Given the description of an element on the screen output the (x, y) to click on. 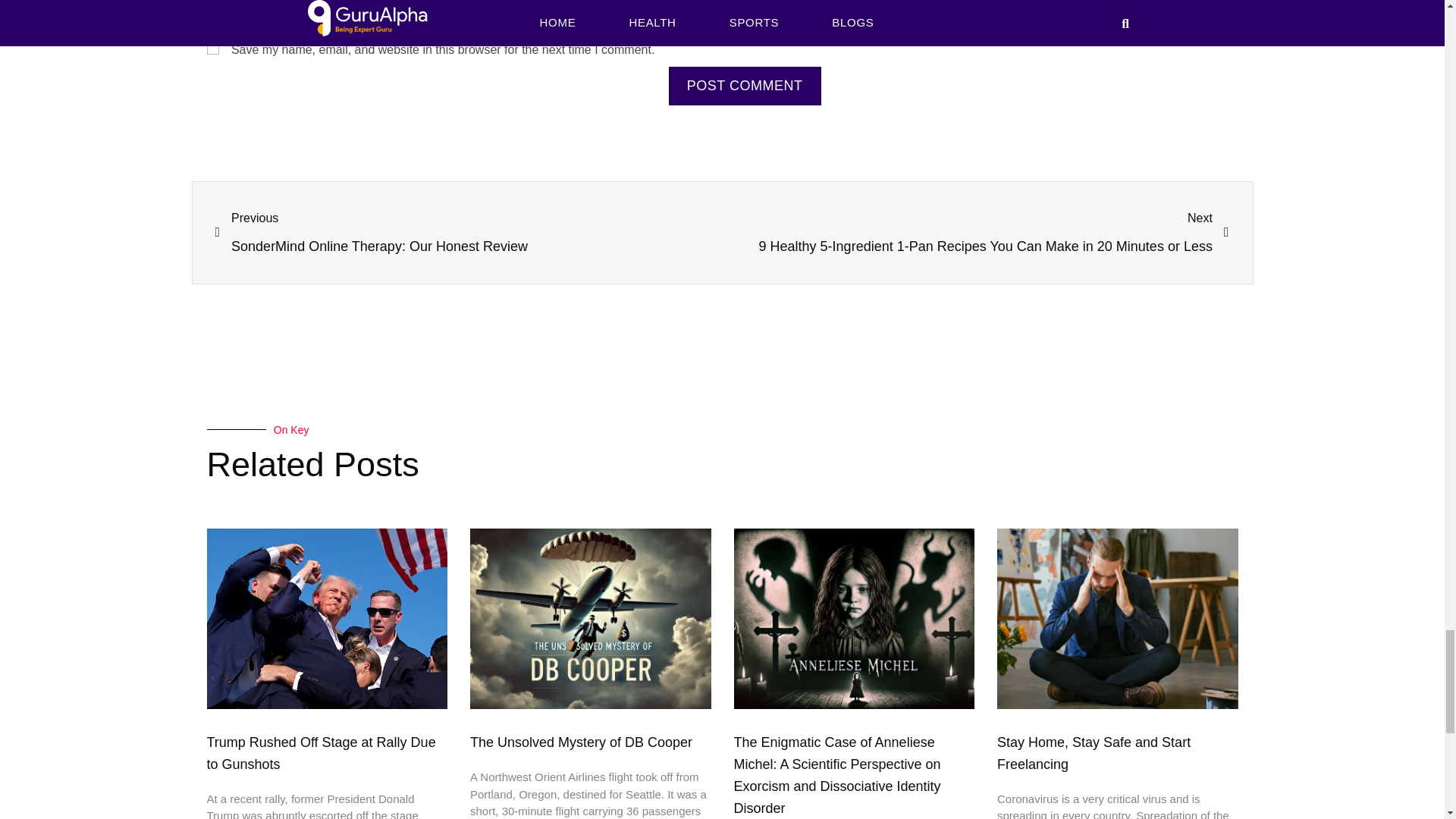
yes (212, 48)
Post Comment (744, 85)
Post Comment (744, 85)
